Given the description of an element on the screen output the (x, y) to click on. 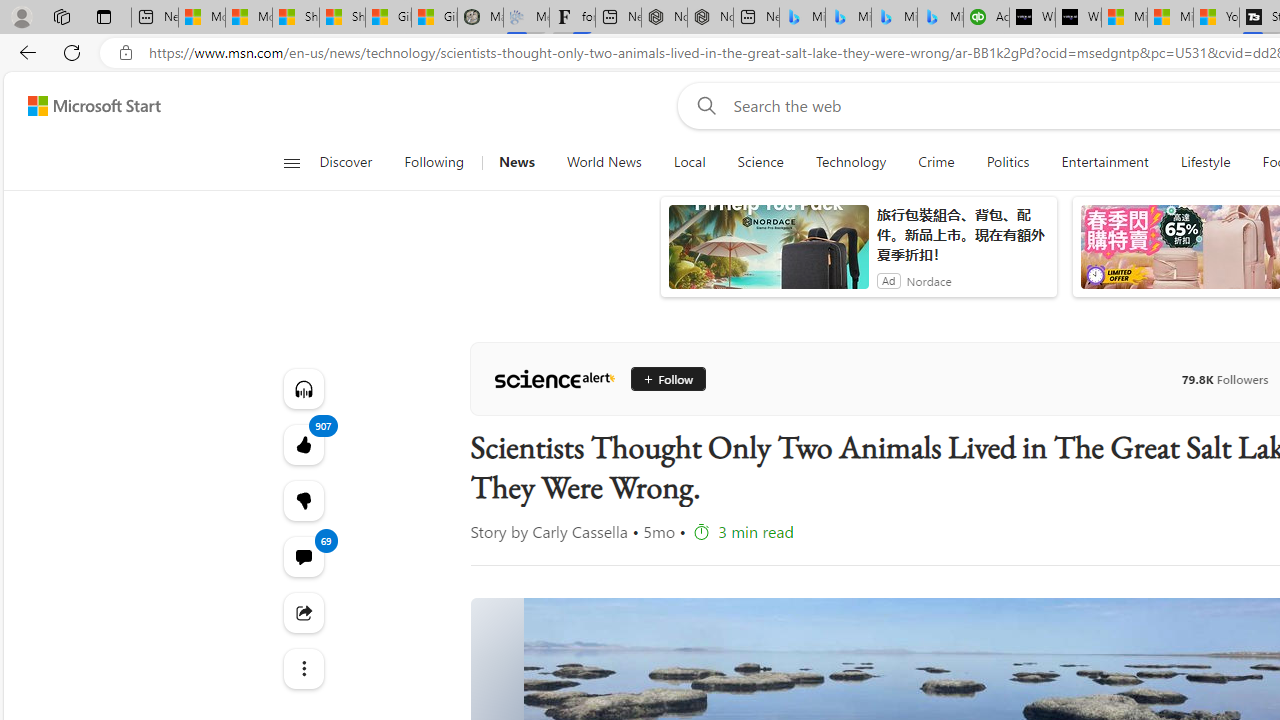
ScienceAlert (554, 378)
Politics (1007, 162)
Ad (888, 280)
Open navigation menu (291, 162)
Web search (702, 105)
Lifestyle (1204, 162)
What's the best AI voice generator? - voice.ai (1078, 17)
Share this story (302, 612)
Listen to this article (302, 388)
News (516, 162)
Workspaces (61, 16)
Class: button-glyph (290, 162)
Microsoft Start Sports (1124, 17)
